Given the description of an element on the screen output the (x, y) to click on. 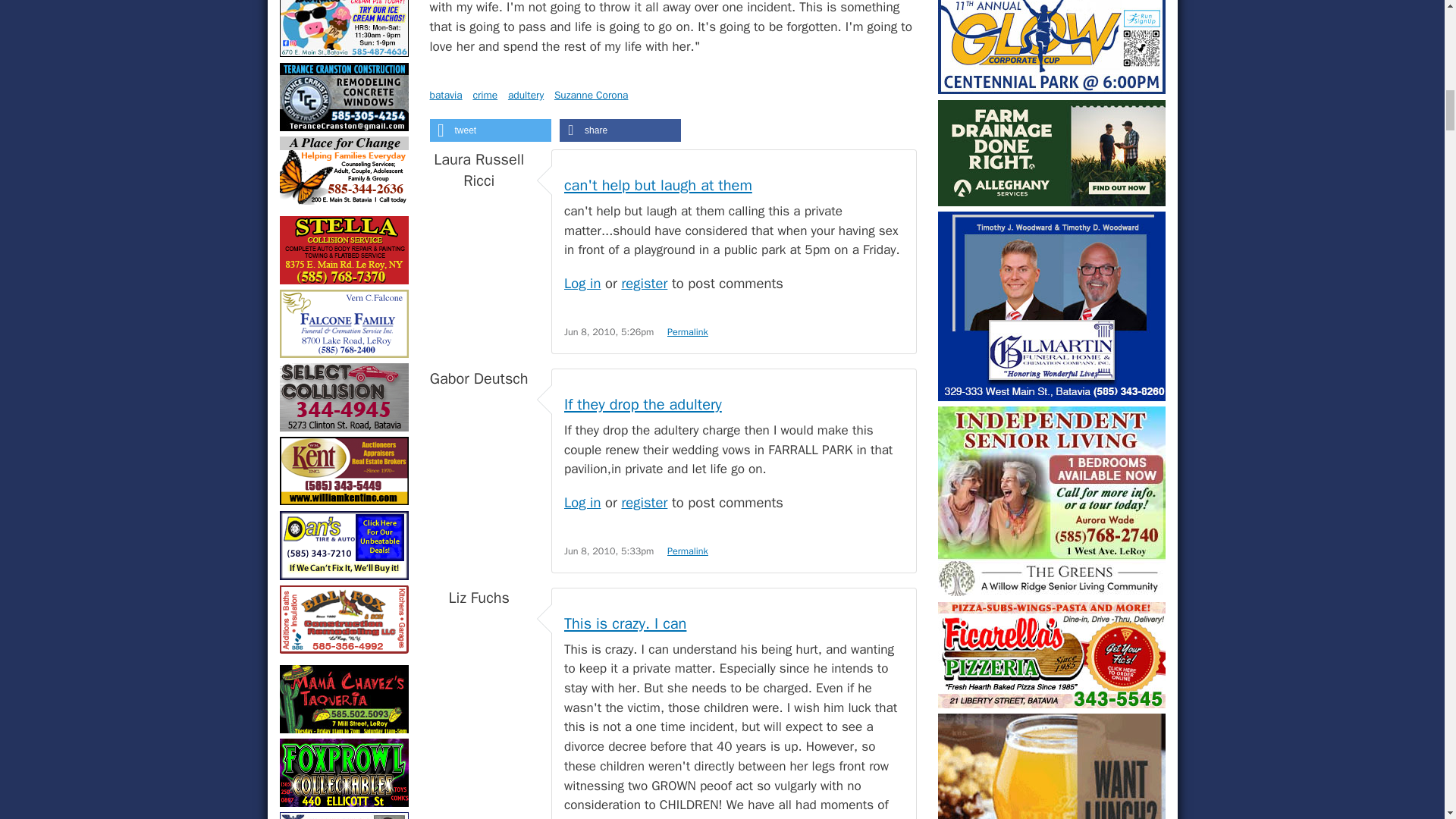
Log in (581, 502)
If they drop the adultery (643, 404)
Log in (581, 282)
share (620, 129)
Suzanne Corona (591, 94)
Permalink (686, 331)
adultery (525, 94)
crime (484, 94)
register (643, 282)
tweet (489, 129)
batavia (445, 94)
can't help but laugh at them (658, 185)
